Given the description of an element on the screen output the (x, y) to click on. 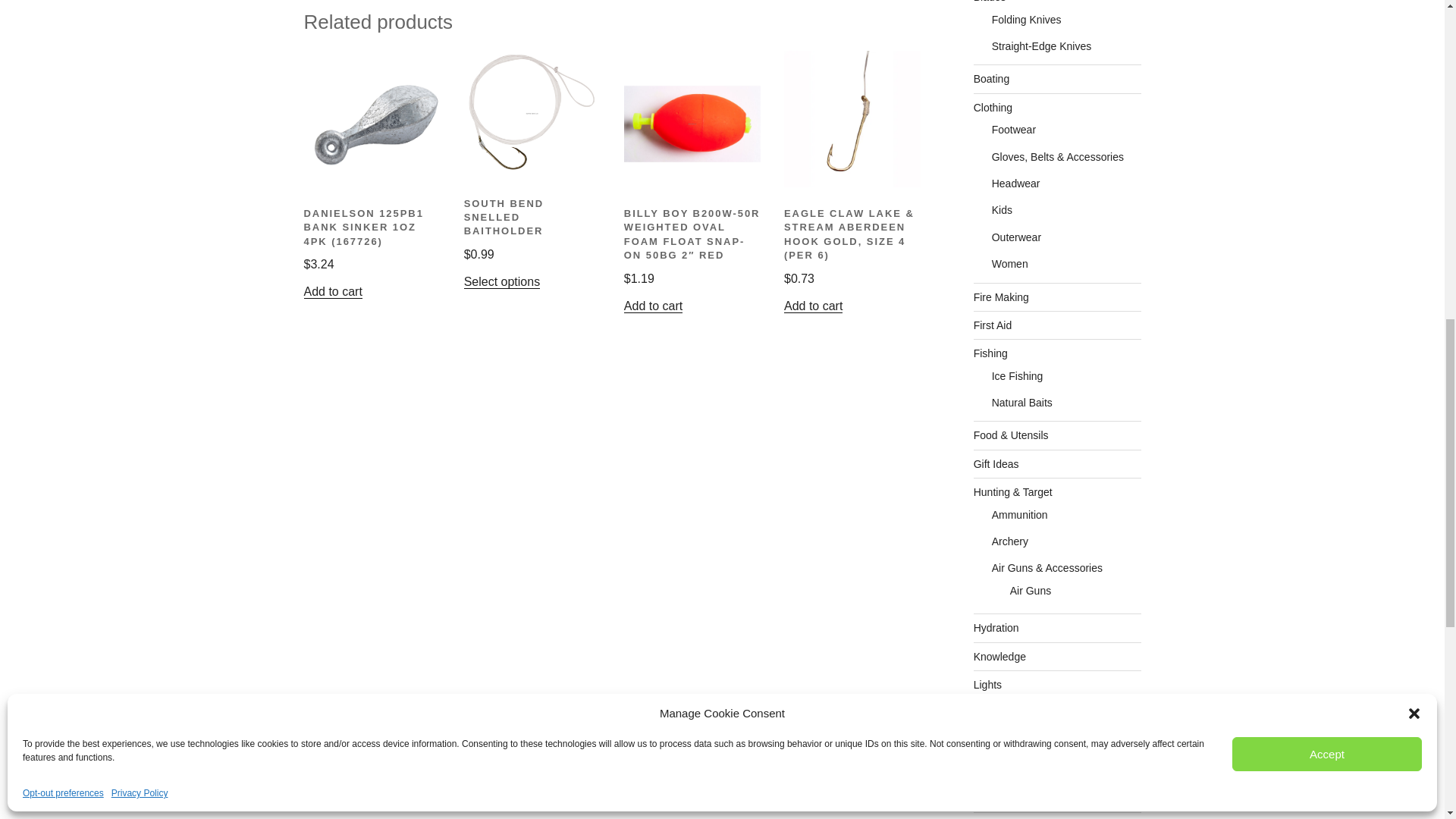
Add to cart (331, 291)
Select options (502, 281)
Add to cart (813, 305)
Add to cart (653, 305)
